Given the description of an element on the screen output the (x, y) to click on. 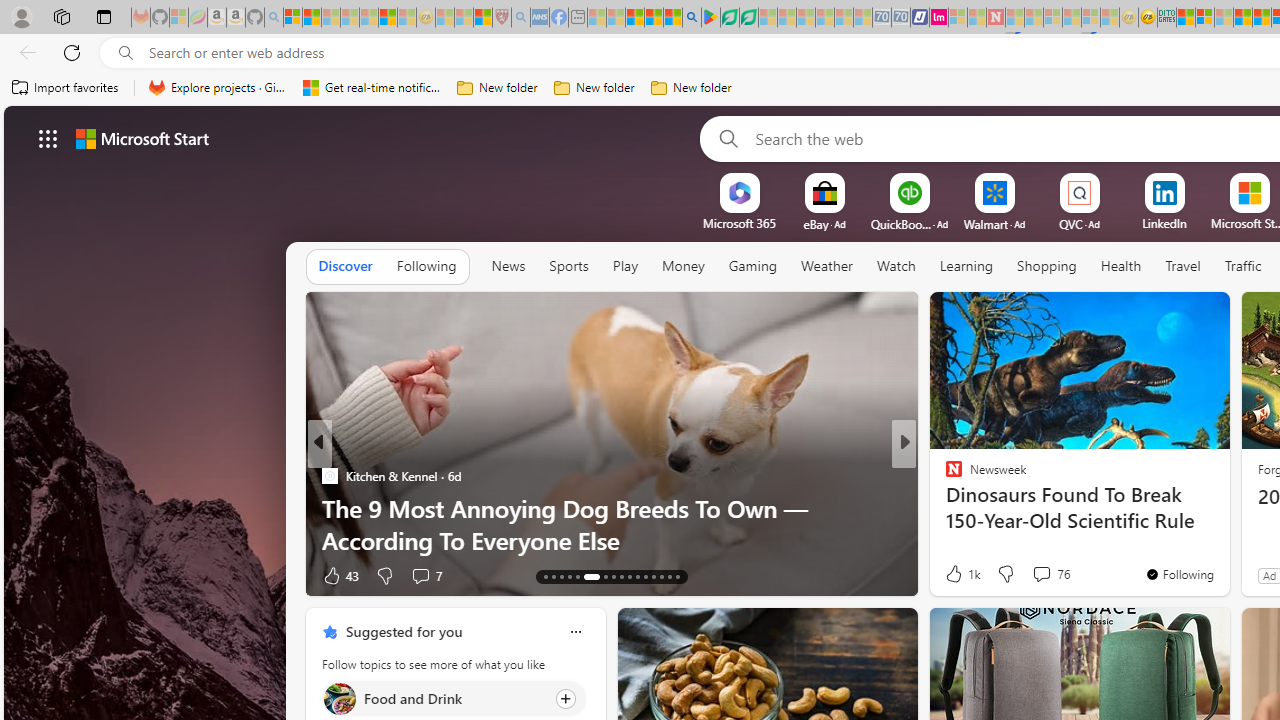
Bluey: Let's Play! - Apps on Google Play (710, 17)
Search icon (125, 53)
Food and Drink (338, 697)
Forge of Empires (981, 507)
Discover Magazine (329, 475)
45 Like (956, 574)
